Given the description of an element on the screen output the (x, y) to click on. 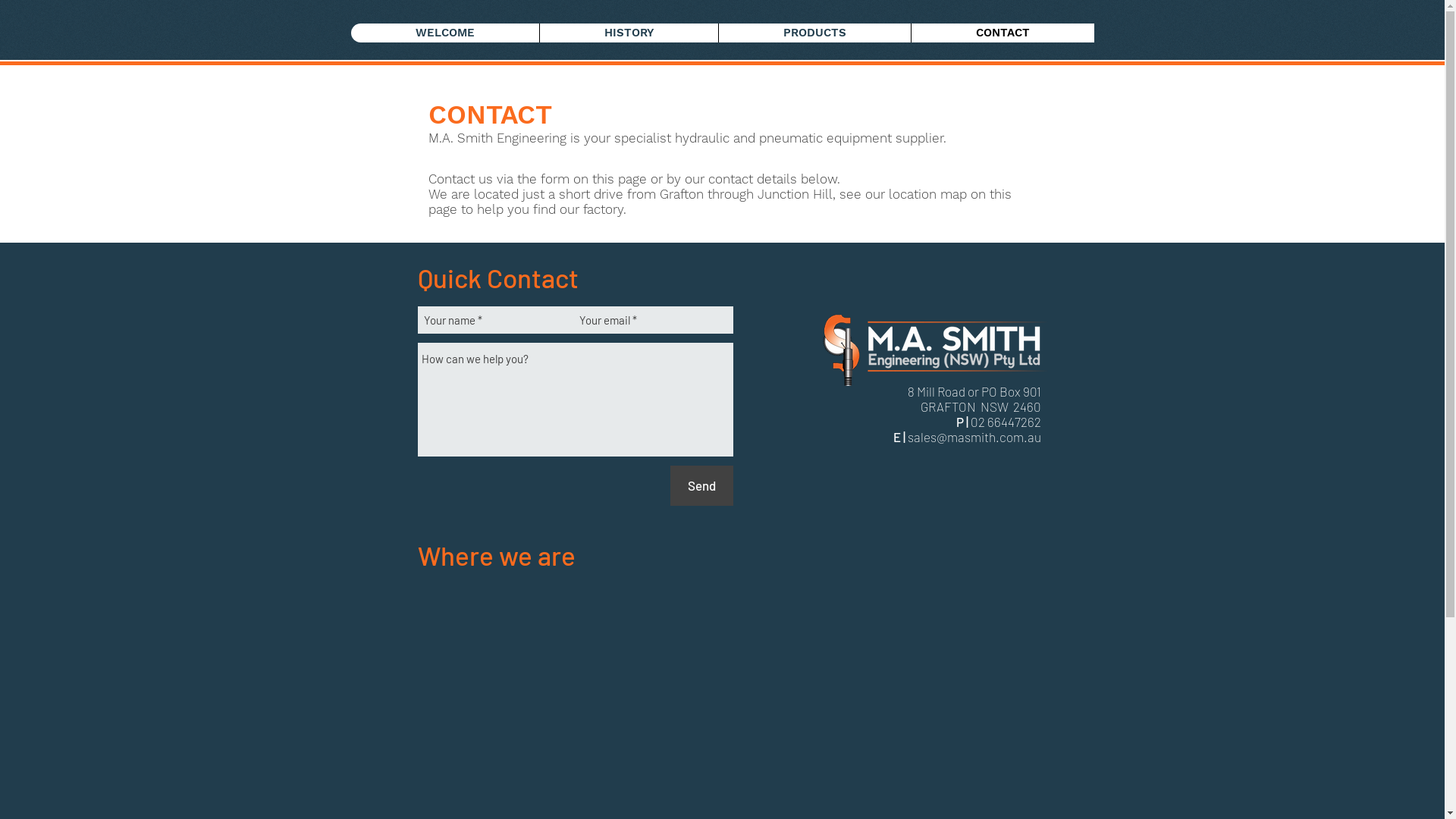
WELCOME Element type: text (444, 32)
Send Element type: text (701, 485)
PRODUCTS Element type: text (813, 32)
CONTACT Element type: text (1001, 32)
HISTORY Element type: text (627, 32)
sales@masmith.com.au Element type: text (973, 436)
